Given the description of an element on the screen output the (x, y) to click on. 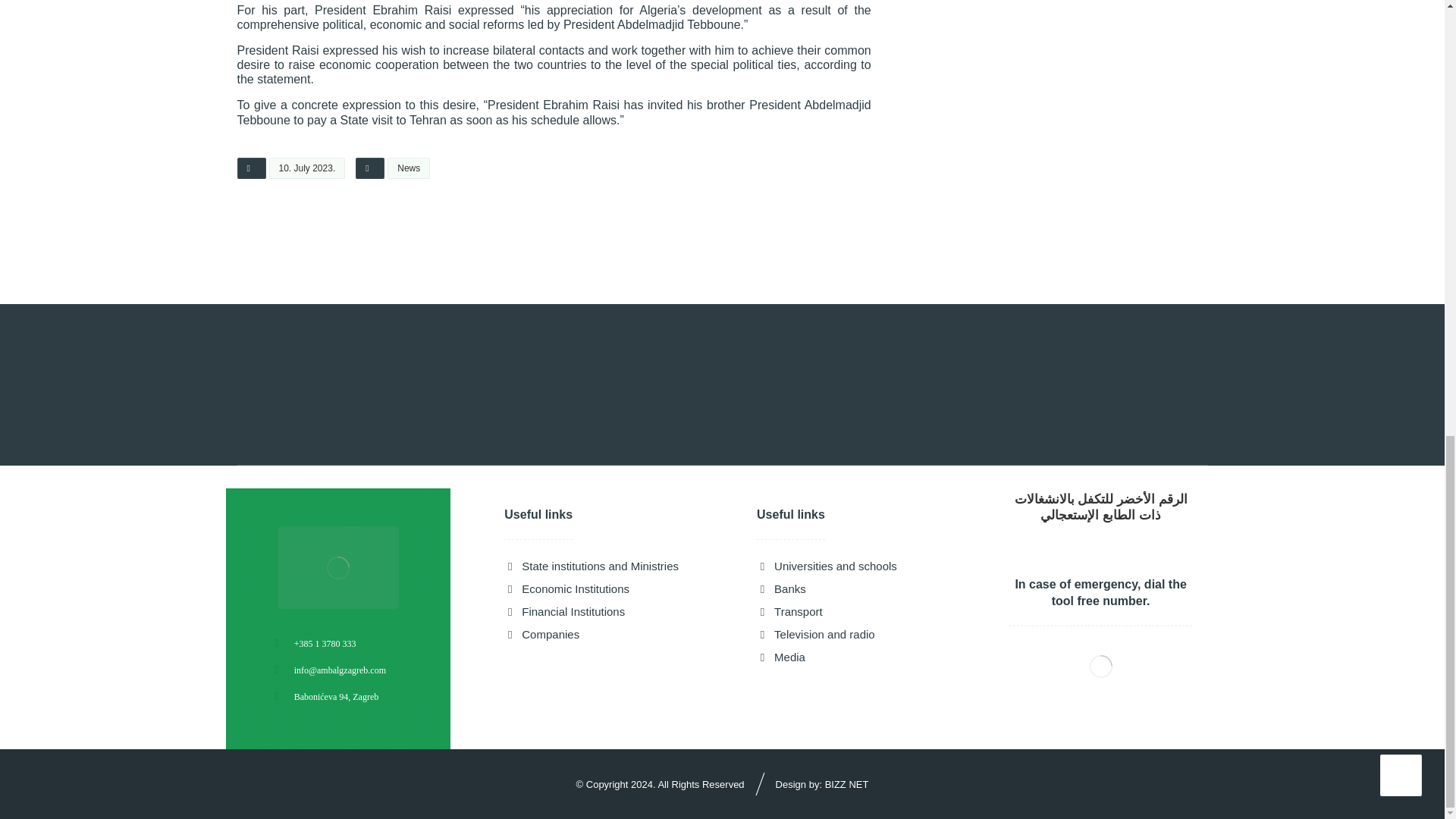
Published on (291, 172)
